Given the description of an element on the screen output the (x, y) to click on. 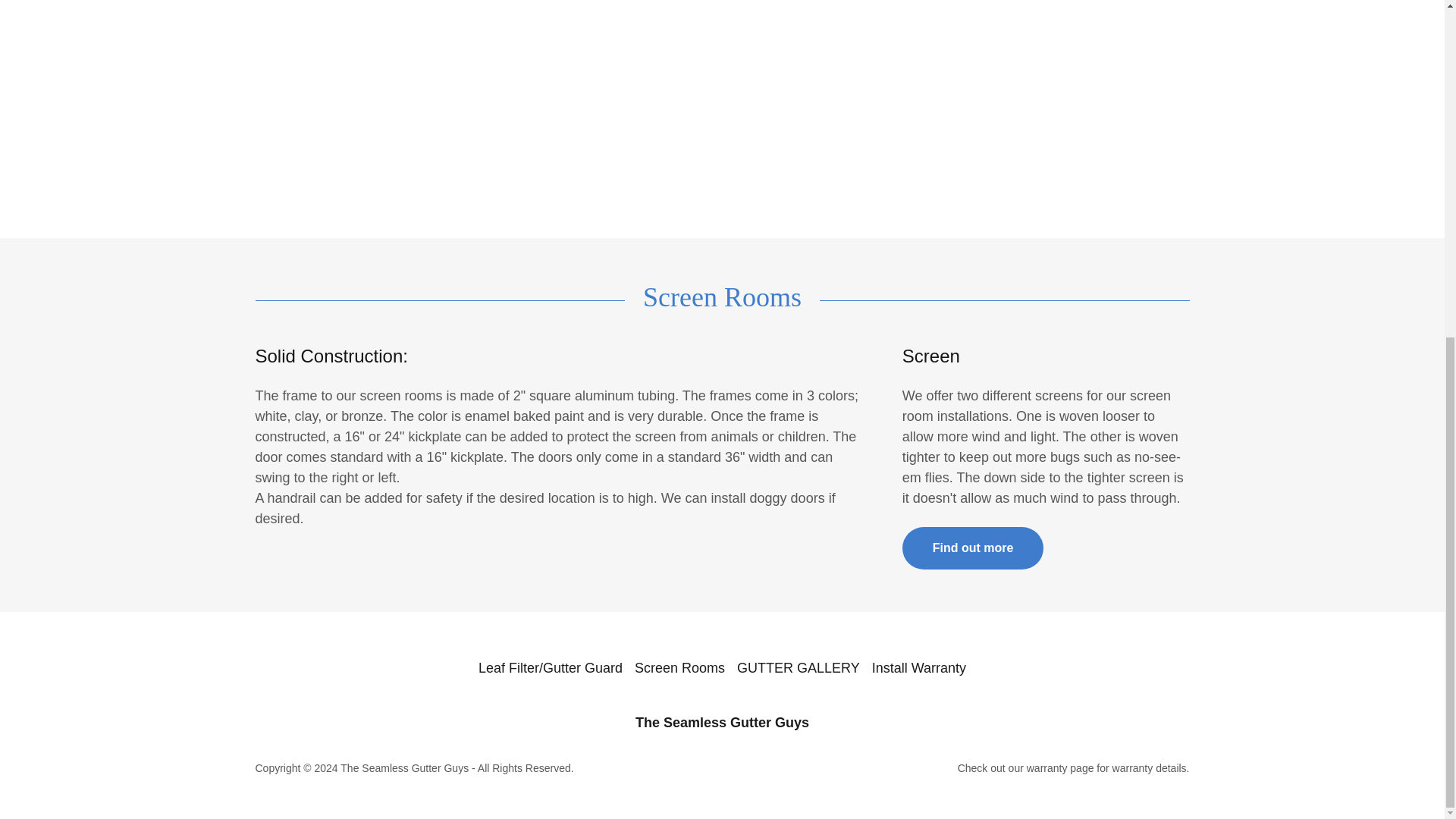
Screen Rooms (679, 668)
Find out more (972, 548)
GUTTER GALLERY (798, 668)
